Given the description of an element on the screen output the (x, y) to click on. 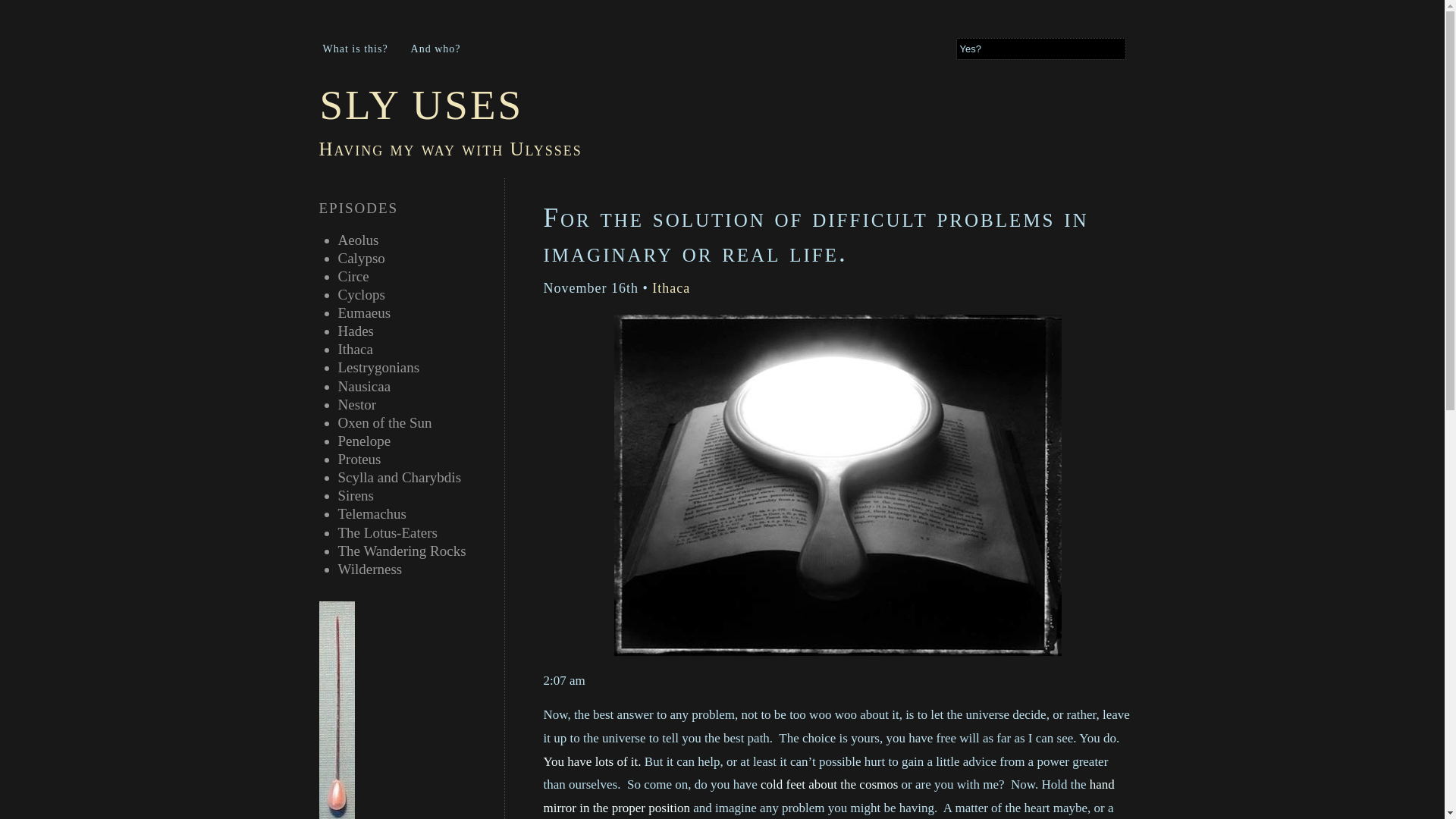
Cyclops (361, 294)
Ithaca (671, 287)
Hades (355, 330)
You have lots of it. (591, 761)
hand mirror in the proper position (828, 795)
Yes?  (1040, 48)
Scylla and Charybdis (399, 477)
Penelope (364, 440)
Lestrygonians (378, 367)
Calypso (361, 258)
The Wandering Rocks (401, 550)
Ithaca (354, 349)
Search (23, 11)
Nausicaa (364, 385)
